Given the description of an element on the screen output the (x, y) to click on. 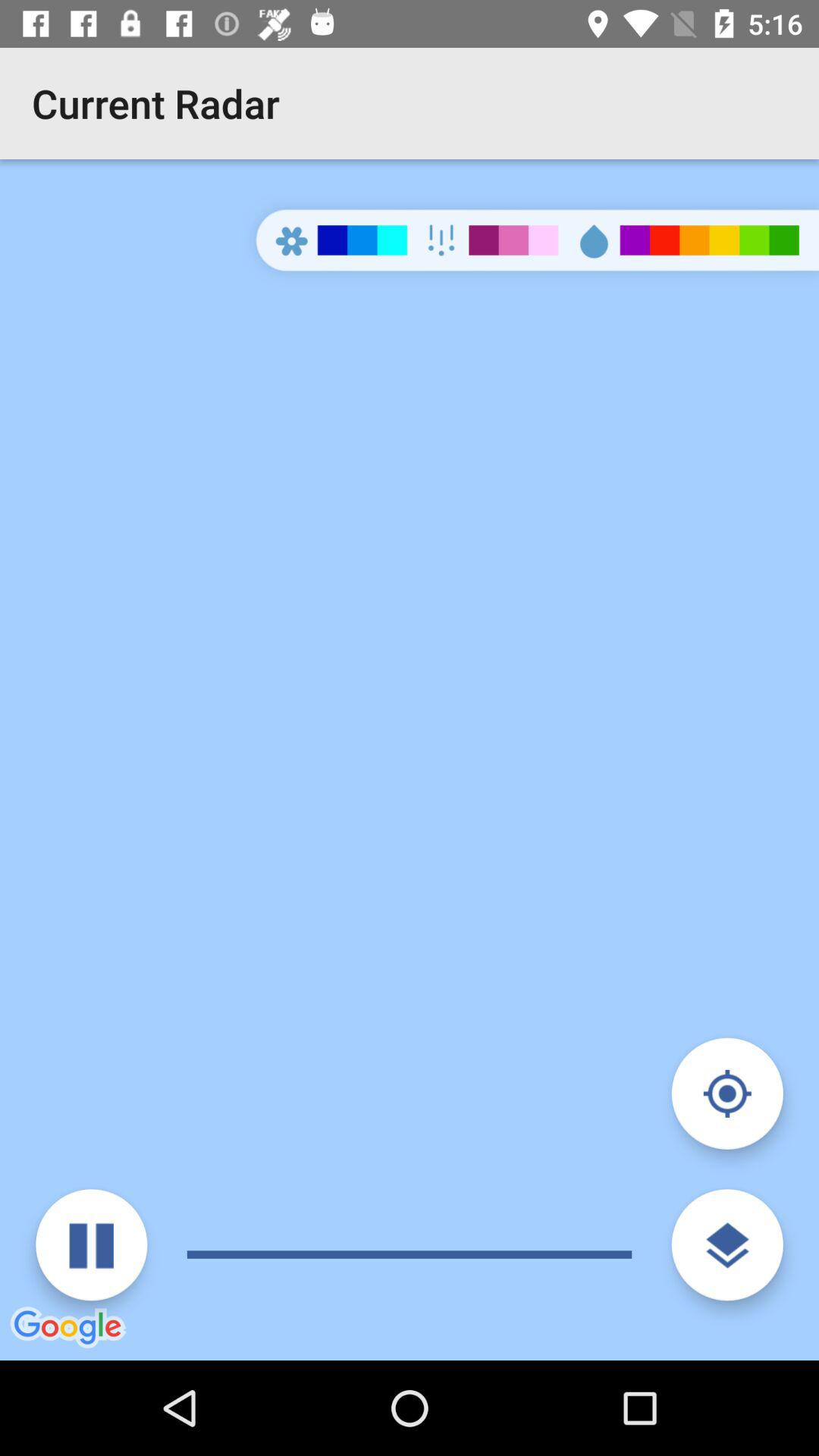
press the icon below the current radar (409, 759)
